Given the description of an element on the screen output the (x, y) to click on. 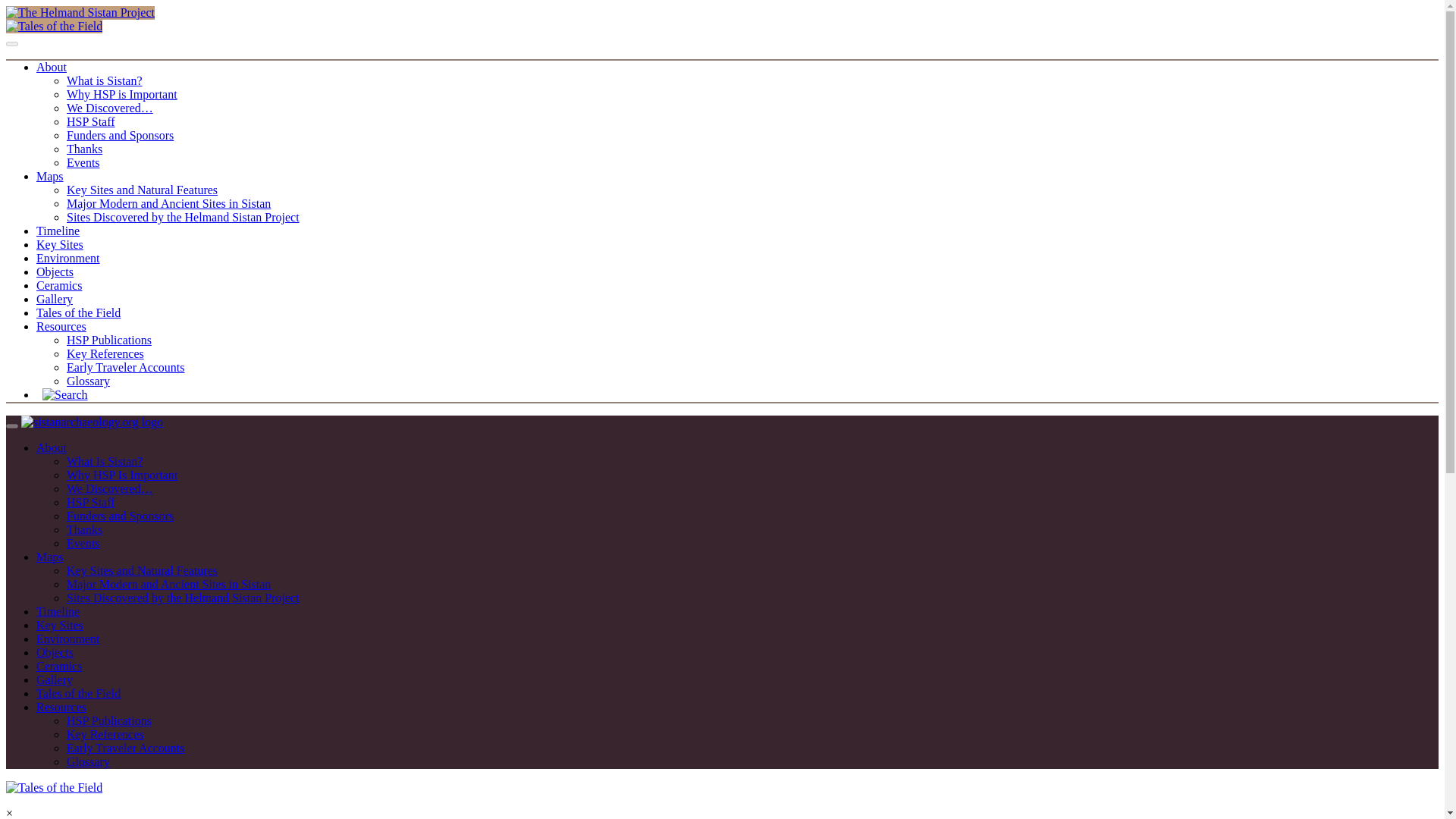
Maps (50, 556)
Gallery (54, 298)
Home (92, 421)
What Is Sistan? (104, 461)
Timeline (58, 230)
Resources (60, 326)
Thanks (83, 529)
Glossary (88, 380)
Key References (105, 353)
HSP Staff (90, 121)
